Given the description of an element on the screen output the (x, y) to click on. 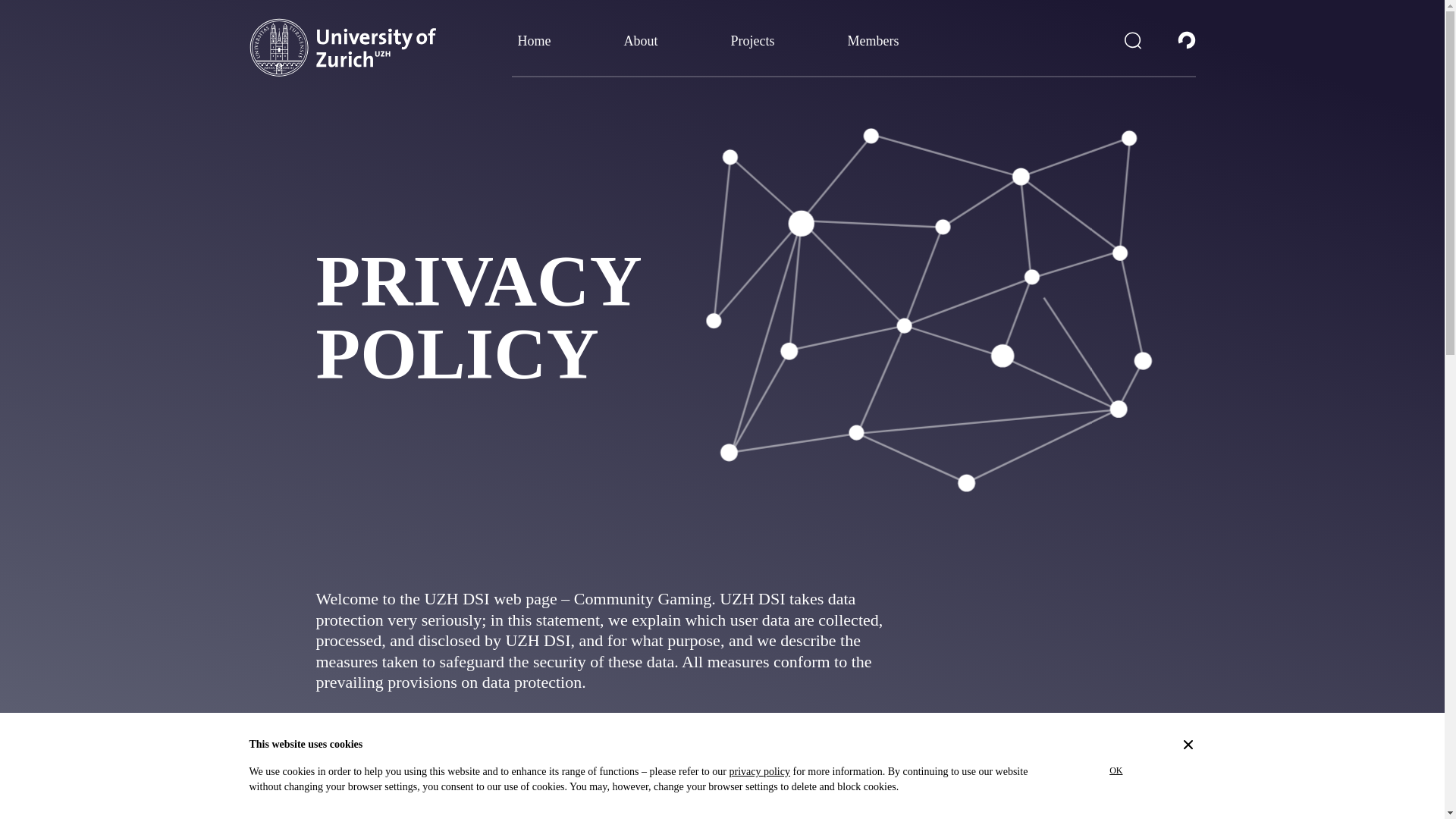
Projects (752, 47)
Members (873, 47)
